Given the description of an element on the screen output the (x, y) to click on. 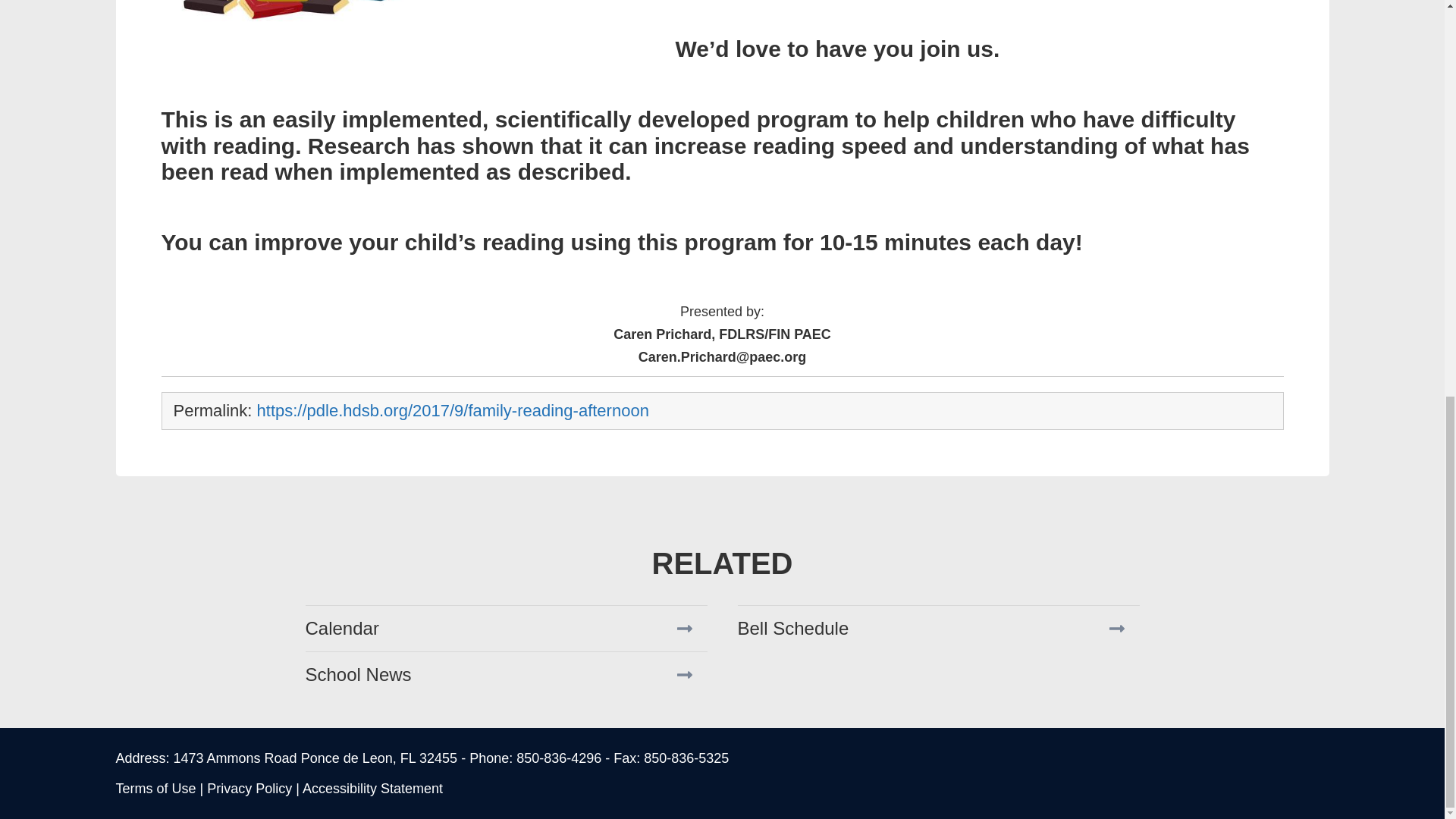
Calendar (505, 628)
Privacy Policy (249, 788)
Bell Schedule (937, 628)
Accessibility Statement (372, 788)
Terms of Use (155, 788)
School News (505, 674)
